Given the description of an element on the screen output the (x, y) to click on. 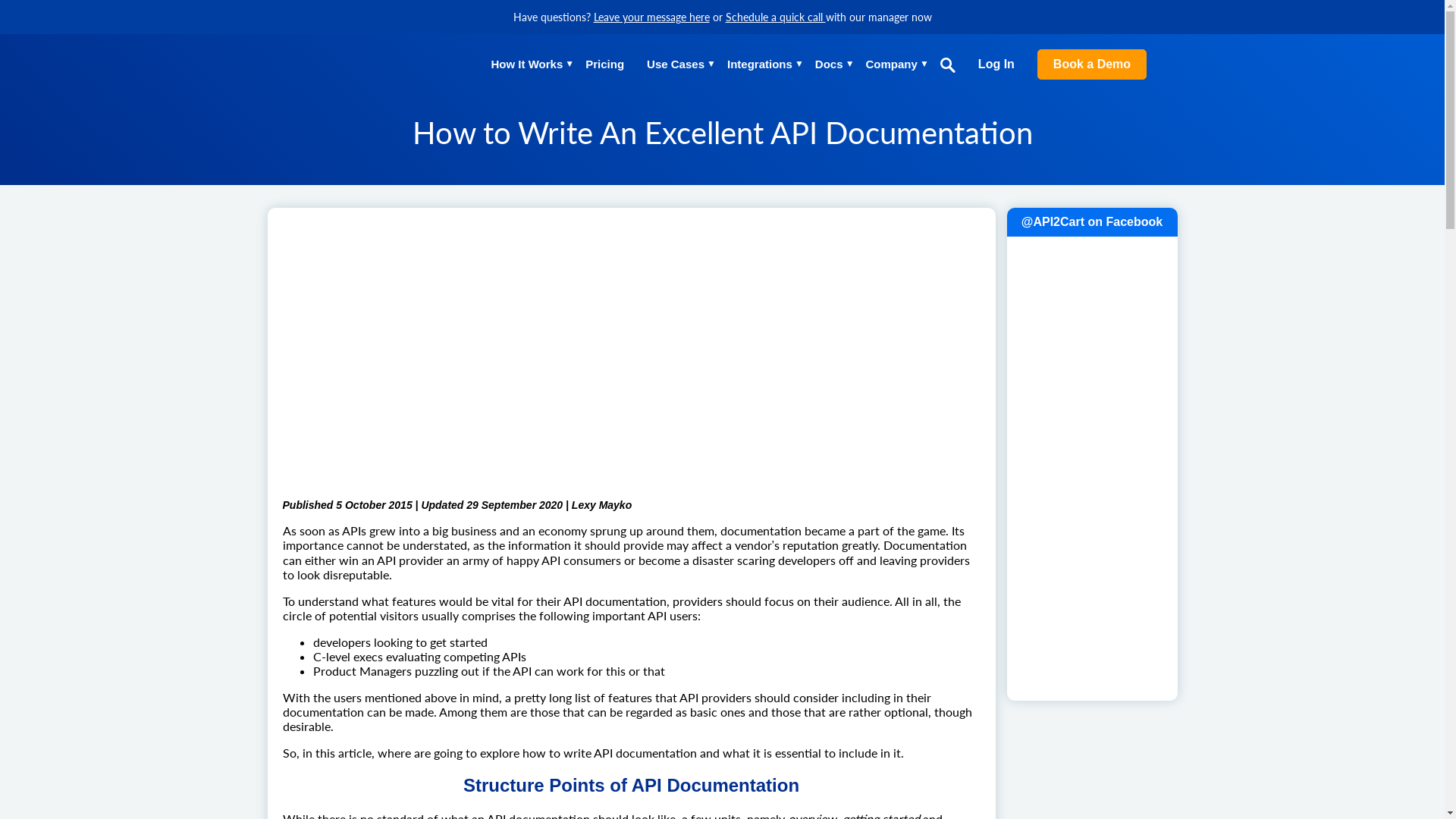
How It Works (527, 64)
Schedule a quick call (775, 16)
Integrations (759, 64)
Use Cases (675, 64)
Leave your message here (650, 16)
Pricing (604, 64)
Pricing (604, 64)
How It Works (527, 64)
Use Cases (675, 64)
